Given the description of an element on the screen output the (x, y) to click on. 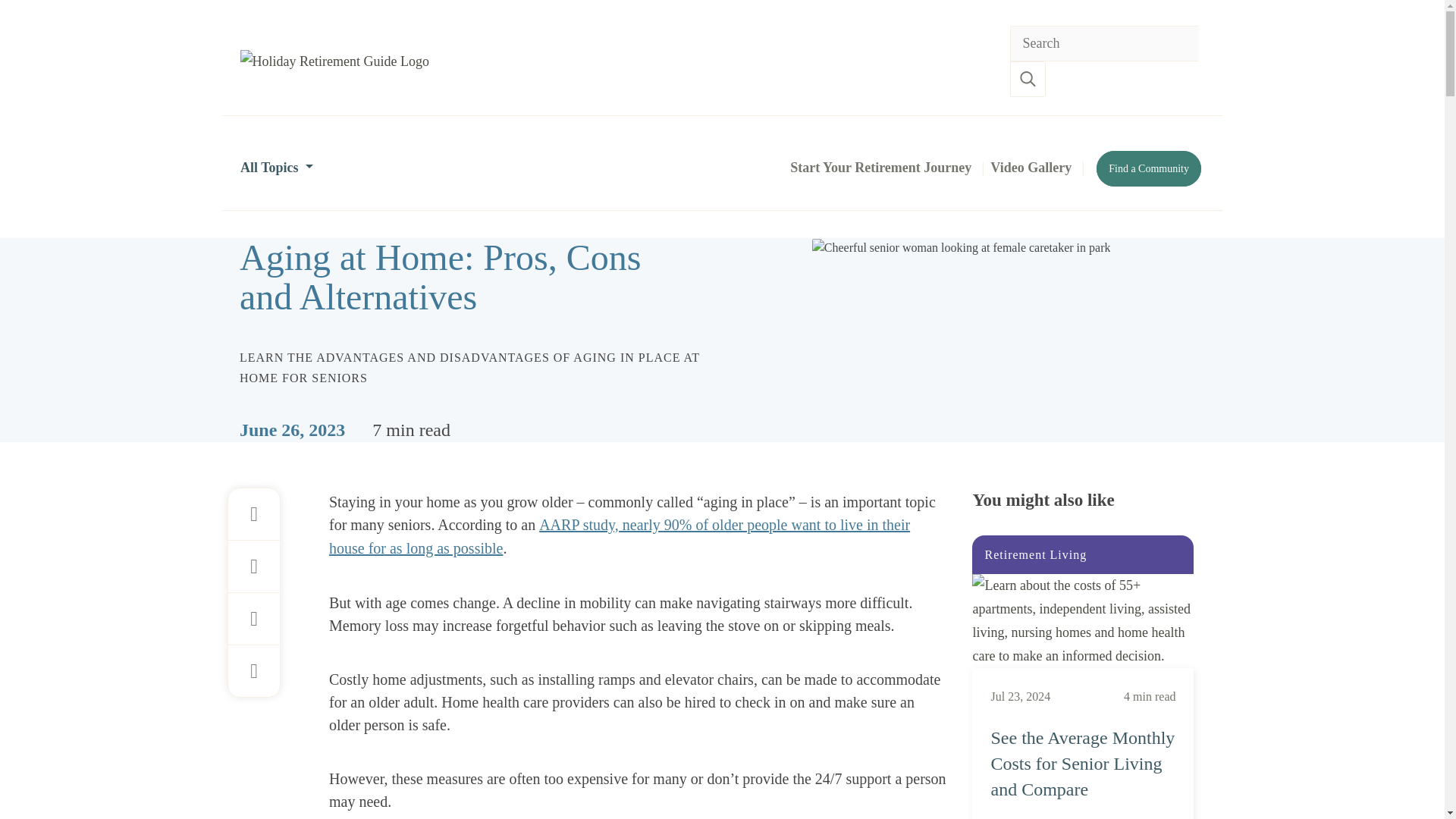
Find a Community (1148, 168)
See the Average Monthly Costs for Senior Living and Compare (1082, 763)
All Topics (276, 167)
Retirement Living (1082, 601)
Video Gallery (1030, 167)
Start Your Retirement Journey (880, 167)
